Given the description of an element on the screen output the (x, y) to click on. 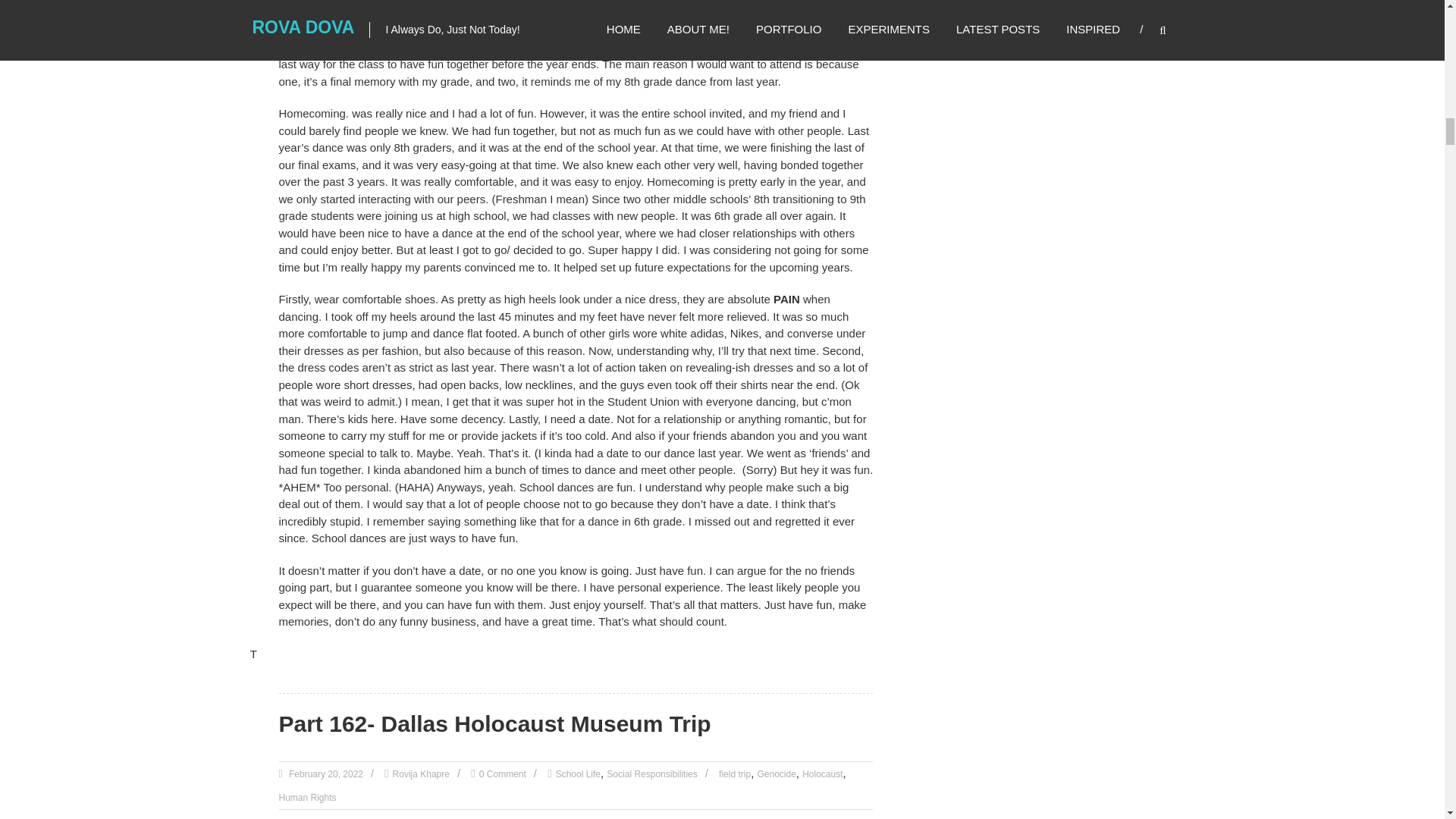
Part 162- Dallas Holocaust Museum Trip (495, 723)
Rovija Khapre (421, 774)
February 20, 2022 (324, 774)
Part 162- Dallas Holocaust Museum Trip (495, 723)
Rovija Khapre (421, 774)
12:22 am (324, 774)
